Given the description of an element on the screen output the (x, y) to click on. 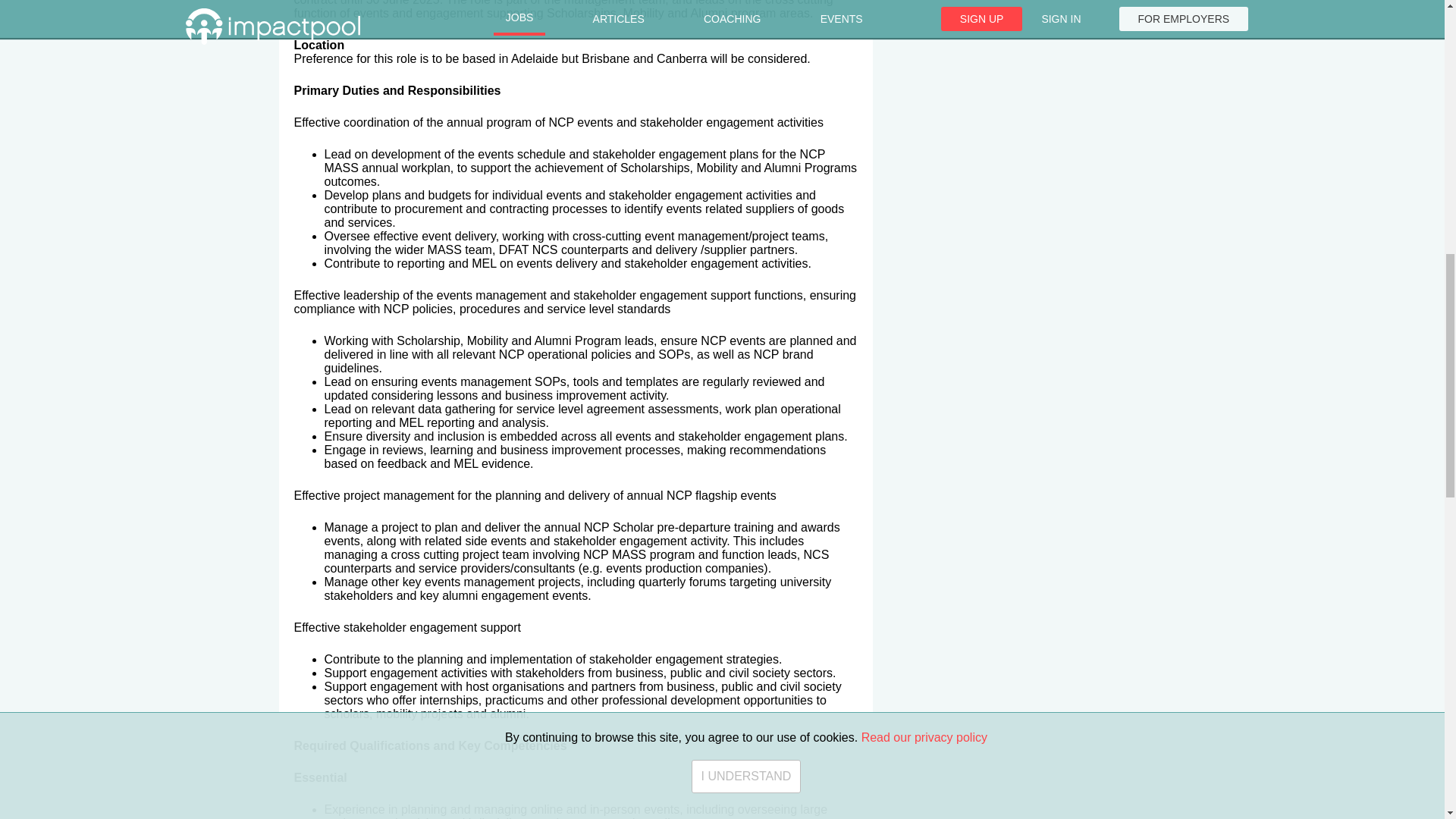
Read our privacy policy (924, 13)
I UNDERSTAND (746, 46)
